Given the description of an element on the screen output the (x, y) to click on. 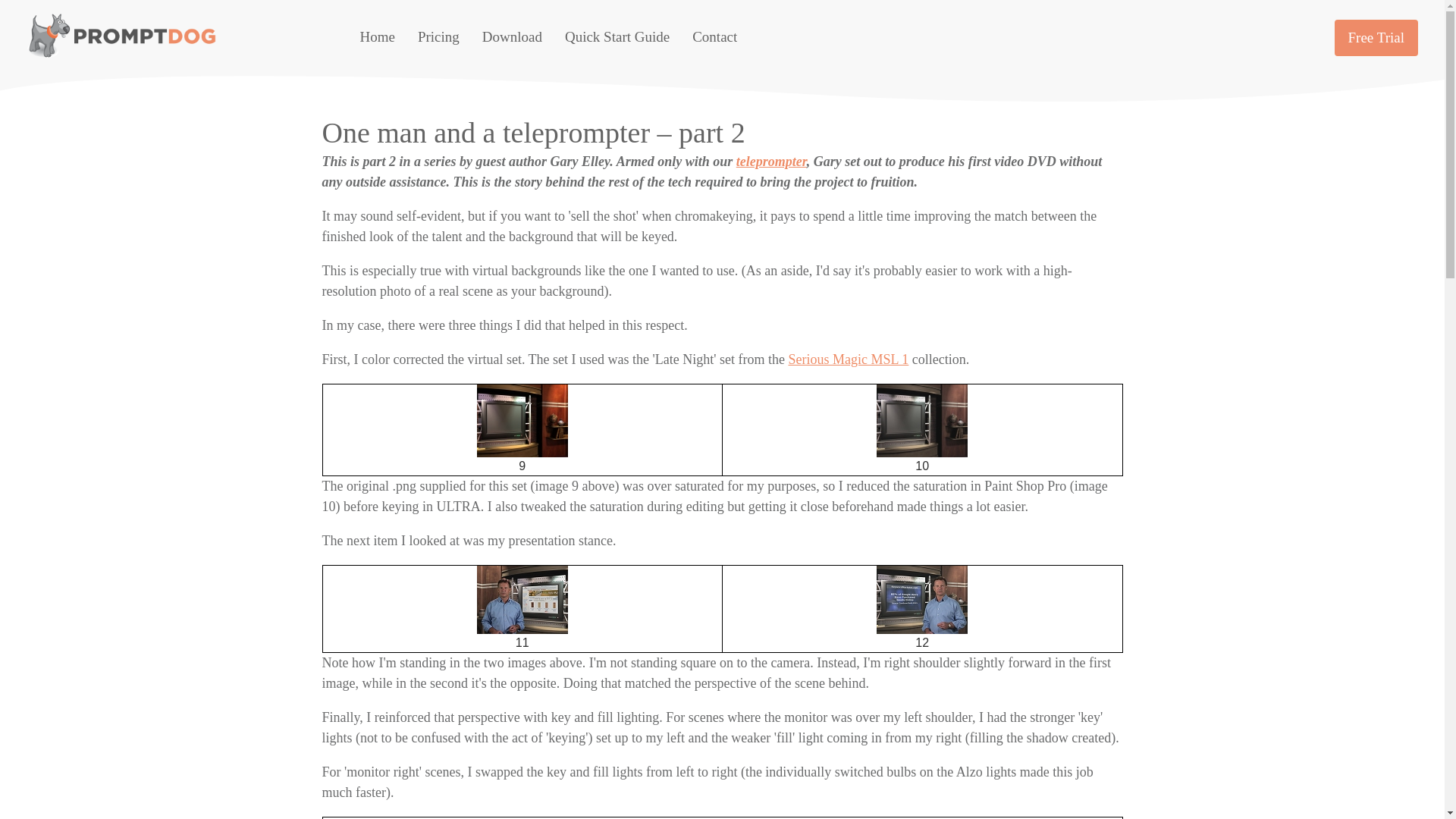
Home (376, 36)
Download (511, 36)
Contact (714, 36)
Pricing (438, 36)
Free Trial (1376, 37)
Quick Start Guide (616, 36)
Serious Magic MSL 1 (847, 359)
teleprompter (771, 160)
